Given the description of an element on the screen output the (x, y) to click on. 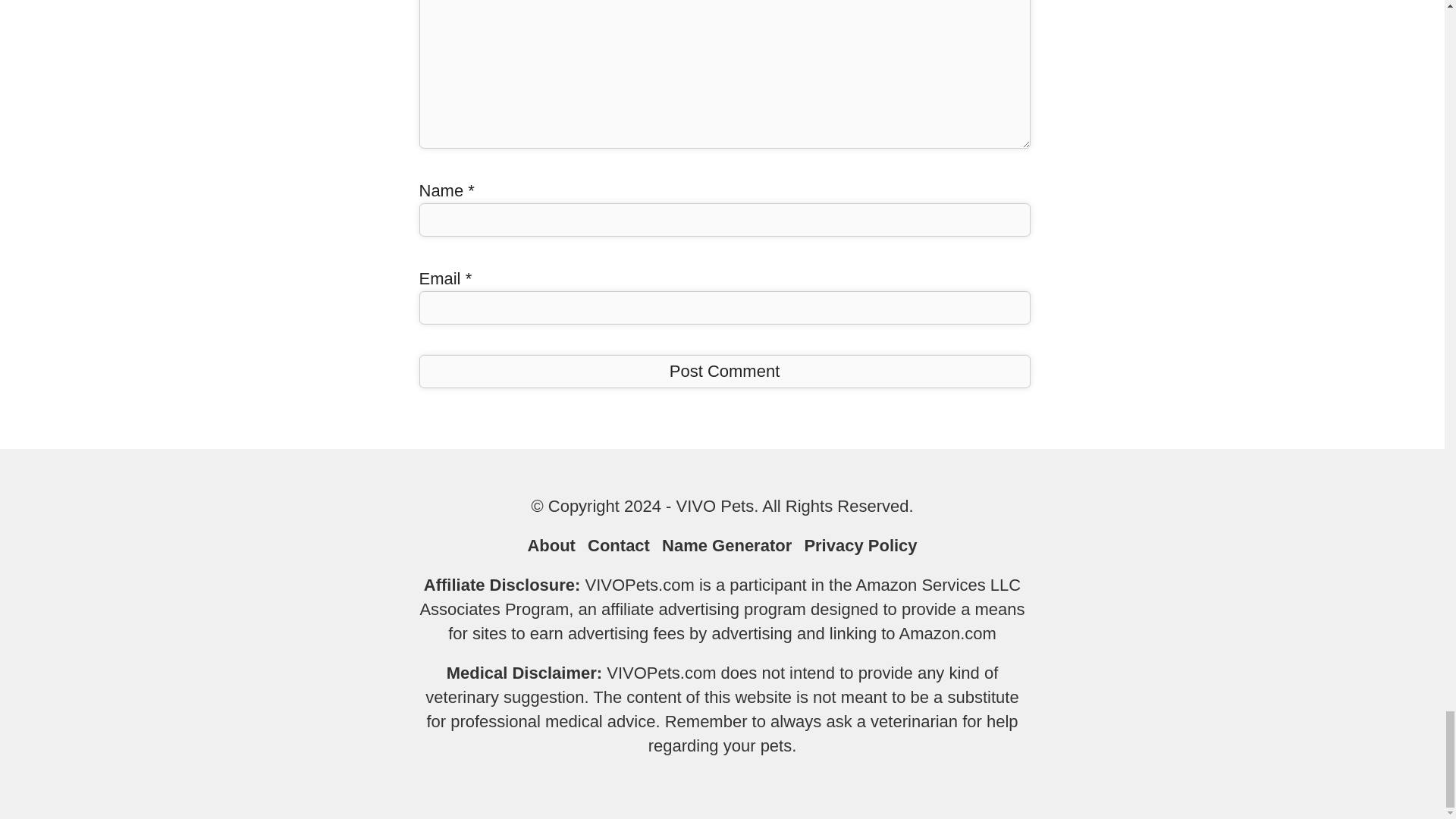
Post Comment (724, 371)
